Given the description of an element on the screen output the (x, y) to click on. 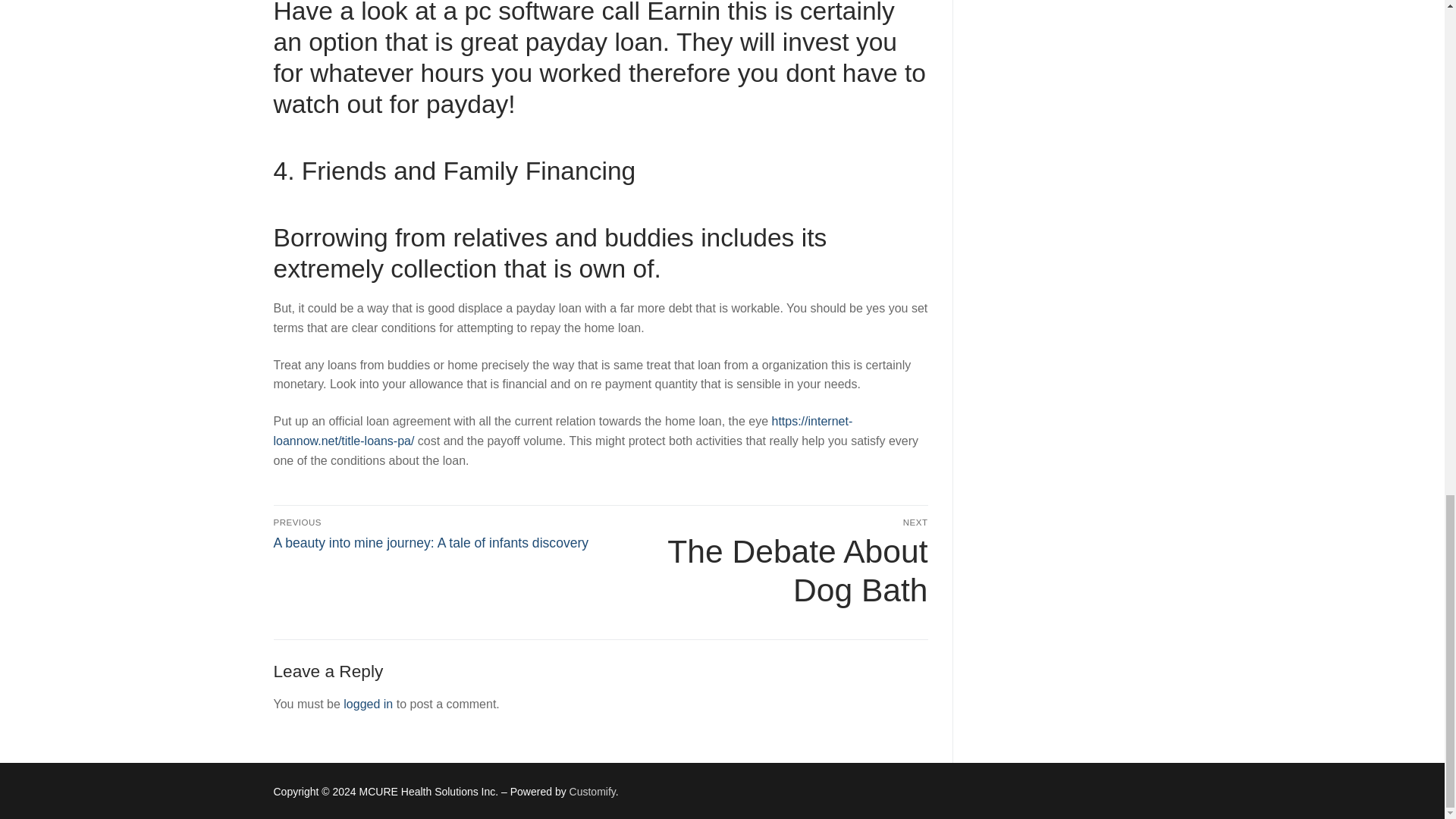
Customify (767, 563)
logged in (592, 791)
